Given the description of an element on the screen output the (x, y) to click on. 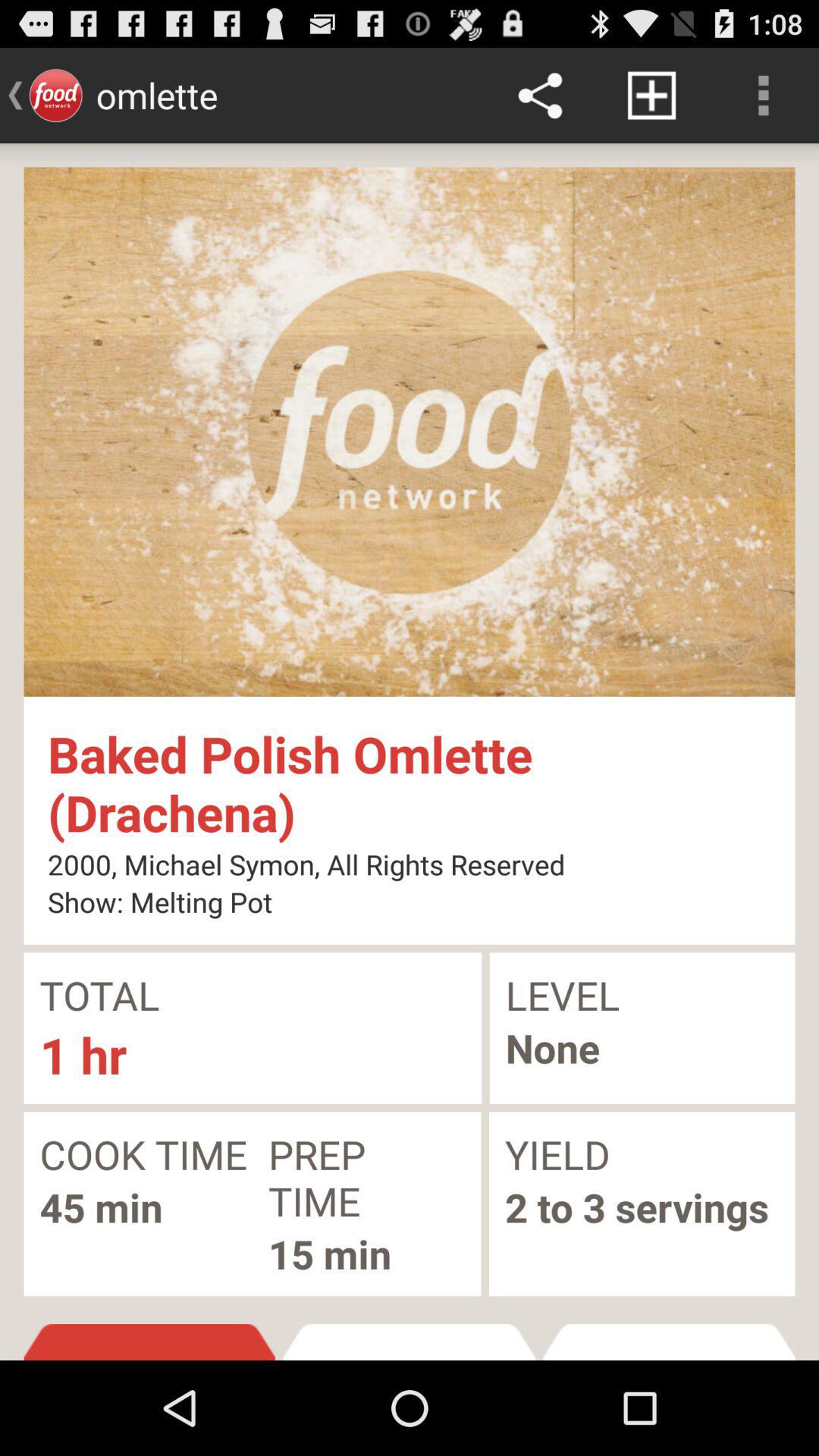
press item next to recipe button (669, 1342)
